Given the description of an element on the screen output the (x, y) to click on. 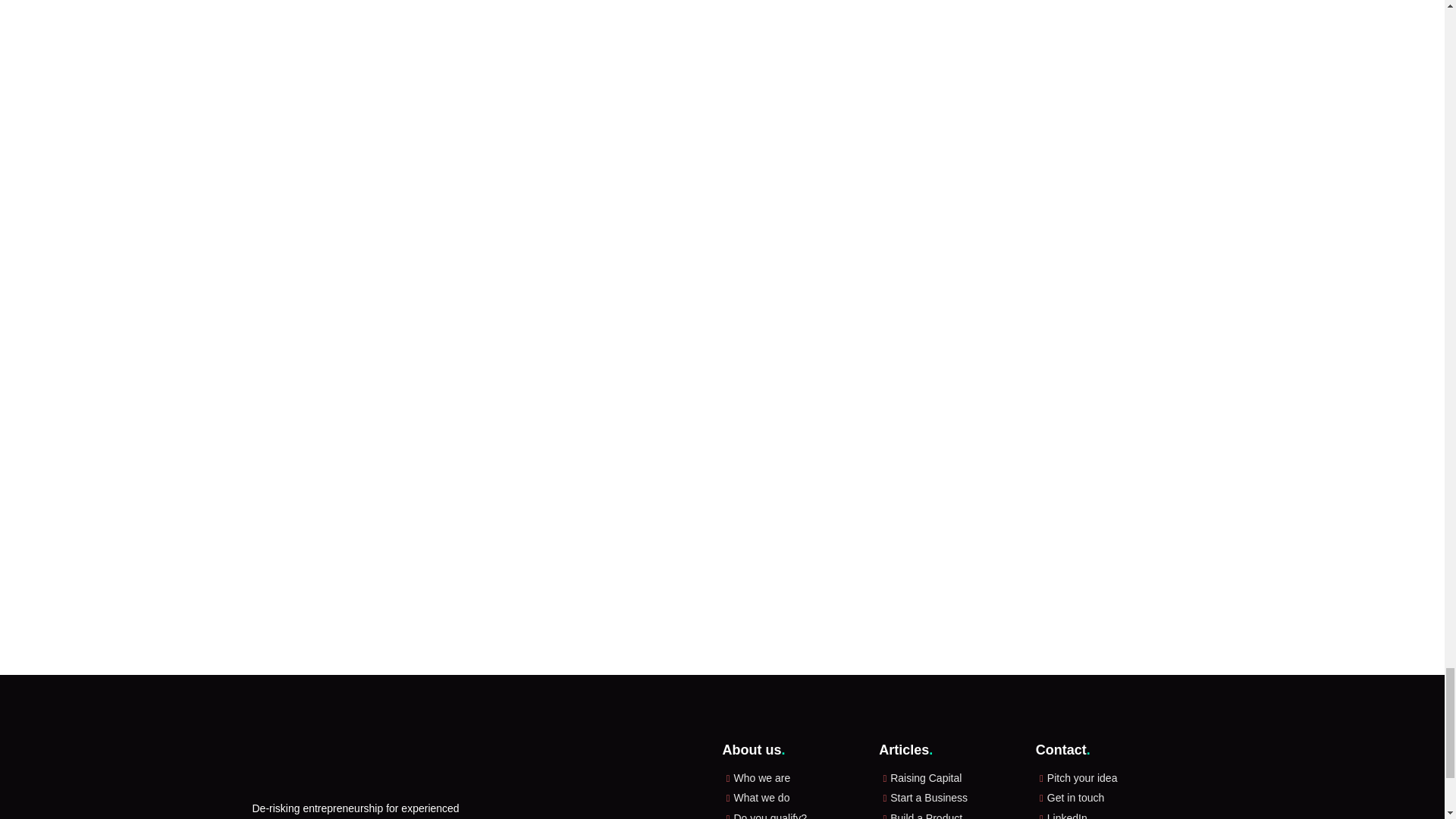
Start a Business (928, 797)
What we do (761, 797)
Do you qualify? (770, 815)
Who we are (761, 777)
Get in touch (1075, 797)
DQ Logo white (324, 762)
Raising Capital (924, 777)
Build a Product (925, 815)
LinkedIn (1066, 815)
Pitch your idea (1082, 777)
